Given the description of an element on the screen output the (x, y) to click on. 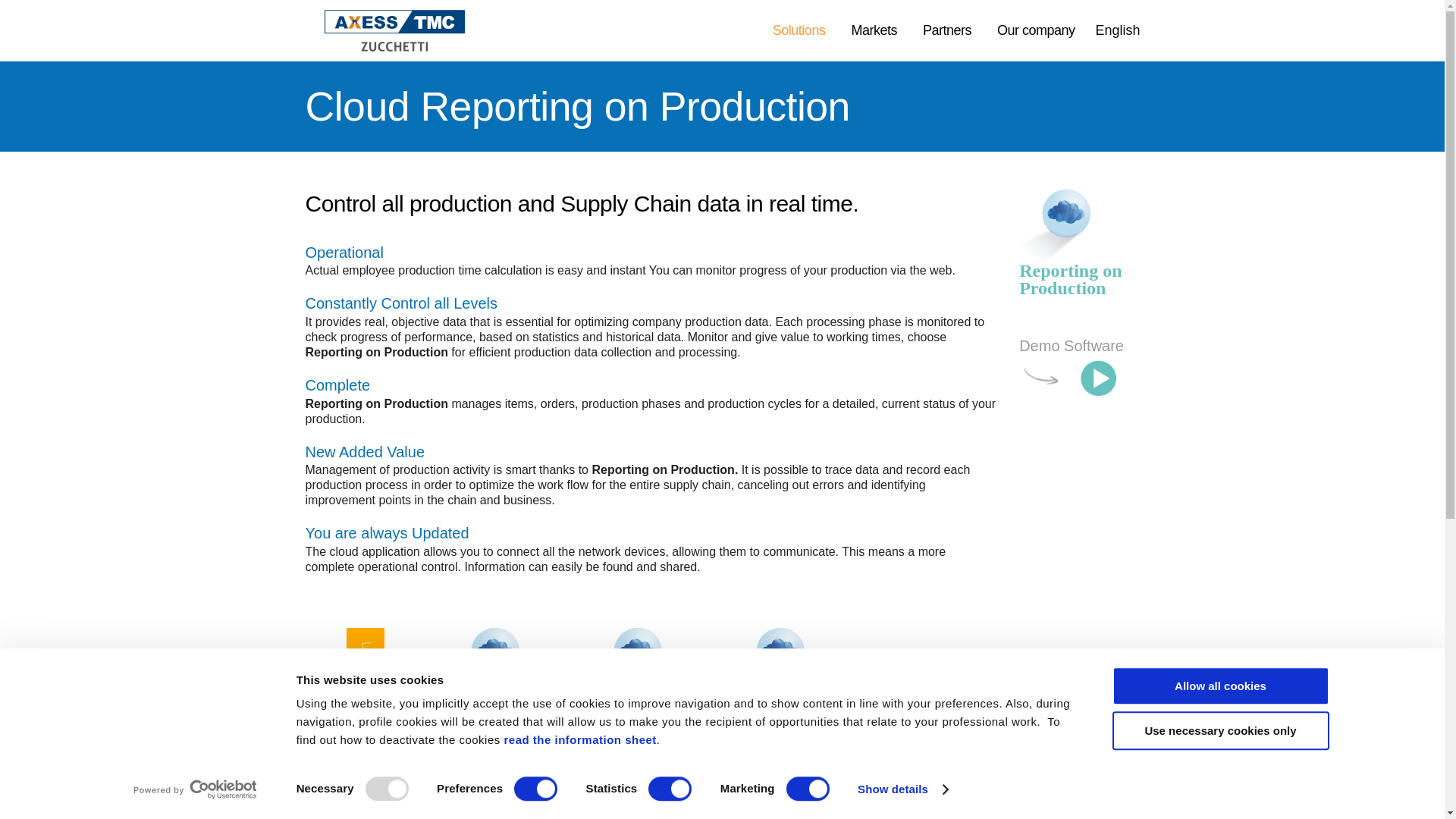
Use necessary cookies only (1219, 730)
Show details (902, 789)
read the information sheet (579, 739)
ico-sfera-oltre-97x97 (627, 664)
ico-sfera-oltre-97x97 (769, 664)
Info cookies (579, 739)
English (1120, 29)
Allow all cookies (1219, 685)
demoantiope (1078, 377)
ico-sfera-oltre-97x97 (484, 664)
ico-sfera-oltre-97x97 (1056, 225)
